Given the description of an element on the screen output the (x, y) to click on. 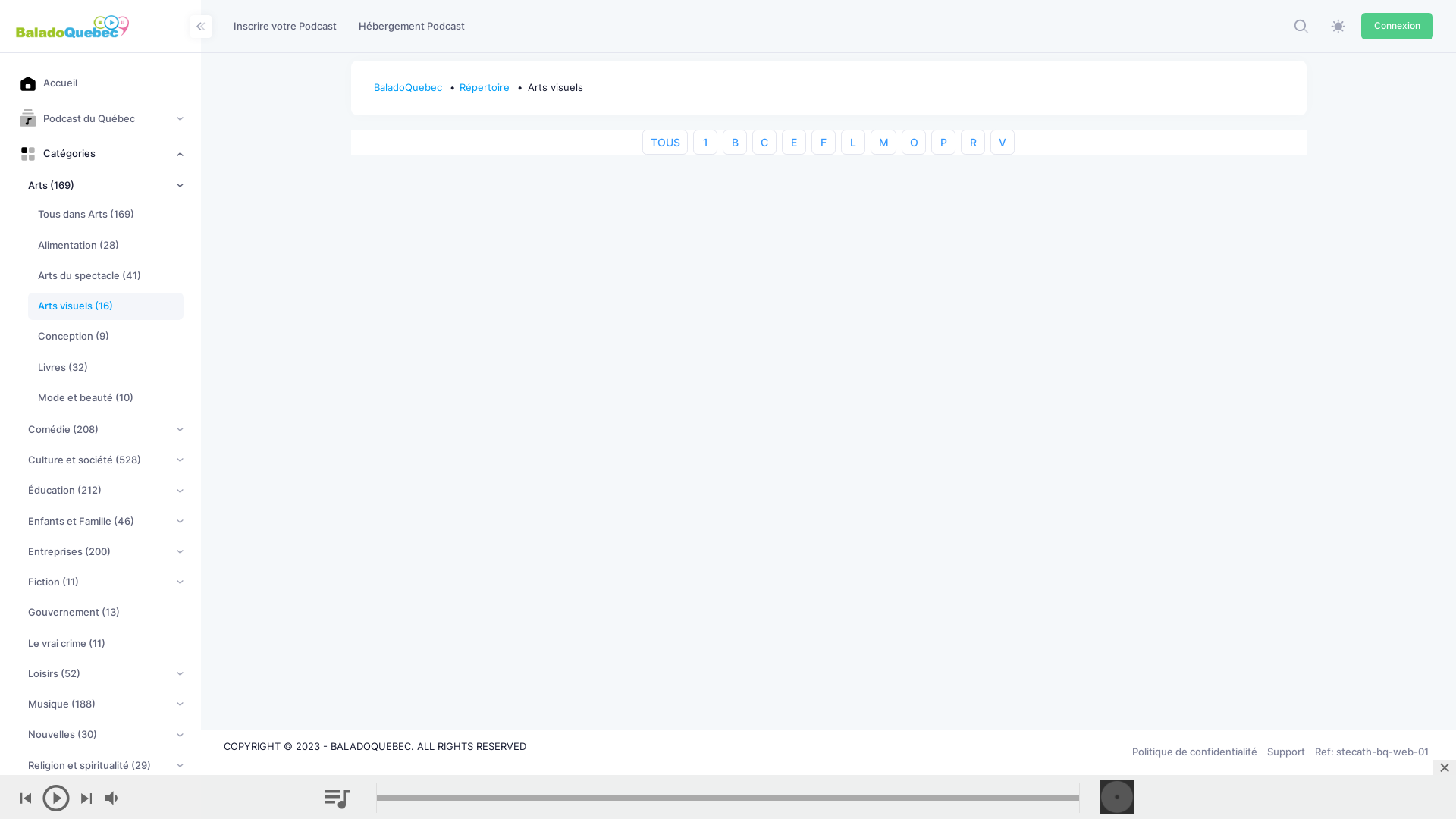
Loisirs (52) Element type: text (105, 673)
M Element type: text (883, 141)
V Element type: text (1002, 141)
Arts du spectacle (41) Element type: text (110, 274)
Le vrai crime (11) Element type: text (105, 642)
Livres (32) Element type: text (110, 366)
Arts (169) Element type: text (105, 184)
Connexion Element type: text (1396, 25)
Tous dans Arts (169) Element type: text (110, 214)
L Element type: text (853, 141)
Musique (188) Element type: text (105, 704)
F Element type: text (823, 141)
Fiction (11) Element type: text (105, 582)
Nouvelles (30) Element type: text (105, 734)
Enfants et Famille (46) Element type: text (105, 520)
TOUS Element type: text (665, 141)
Arts visuels (16) Element type: text (105, 306)
C Element type: text (764, 141)
Gouvernement (13) Element type: text (105, 612)
Accueil Element type: text (100, 82)
BaladoQuebec Element type: text (410, 87)
Alimentation (28) Element type: text (110, 244)
1 Element type: text (705, 141)
O Element type: text (913, 141)
Conception (9) Element type: text (110, 336)
E Element type: text (793, 141)
R Element type: text (972, 141)
Entreprises (200) Element type: text (105, 551)
Inscrire votre Podcast Element type: text (284, 25)
P Element type: text (943, 141)
B Element type: text (734, 141)
Support Element type: text (1285, 751)
